Given the description of an element on the screen output the (x, y) to click on. 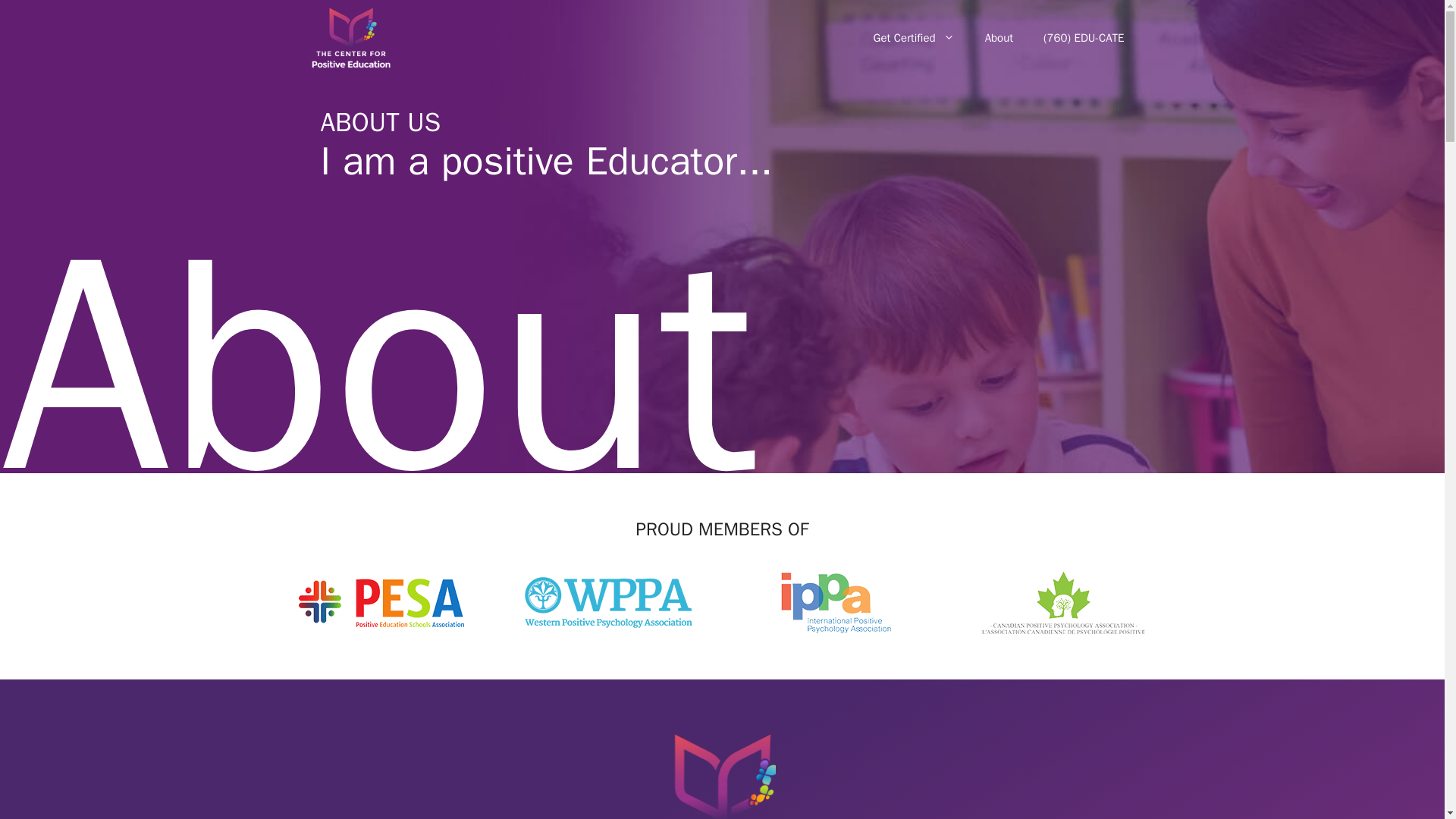
wppa (608, 602)
center-for-positive-education-favicon (721, 771)
The Center for Positive Education (353, 38)
PESA (381, 602)
Get Certified (914, 37)
canada (1062, 601)
ippa (835, 602)
The Center for Positive Education (350, 38)
About (998, 37)
